Given the description of an element on the screen output the (x, y) to click on. 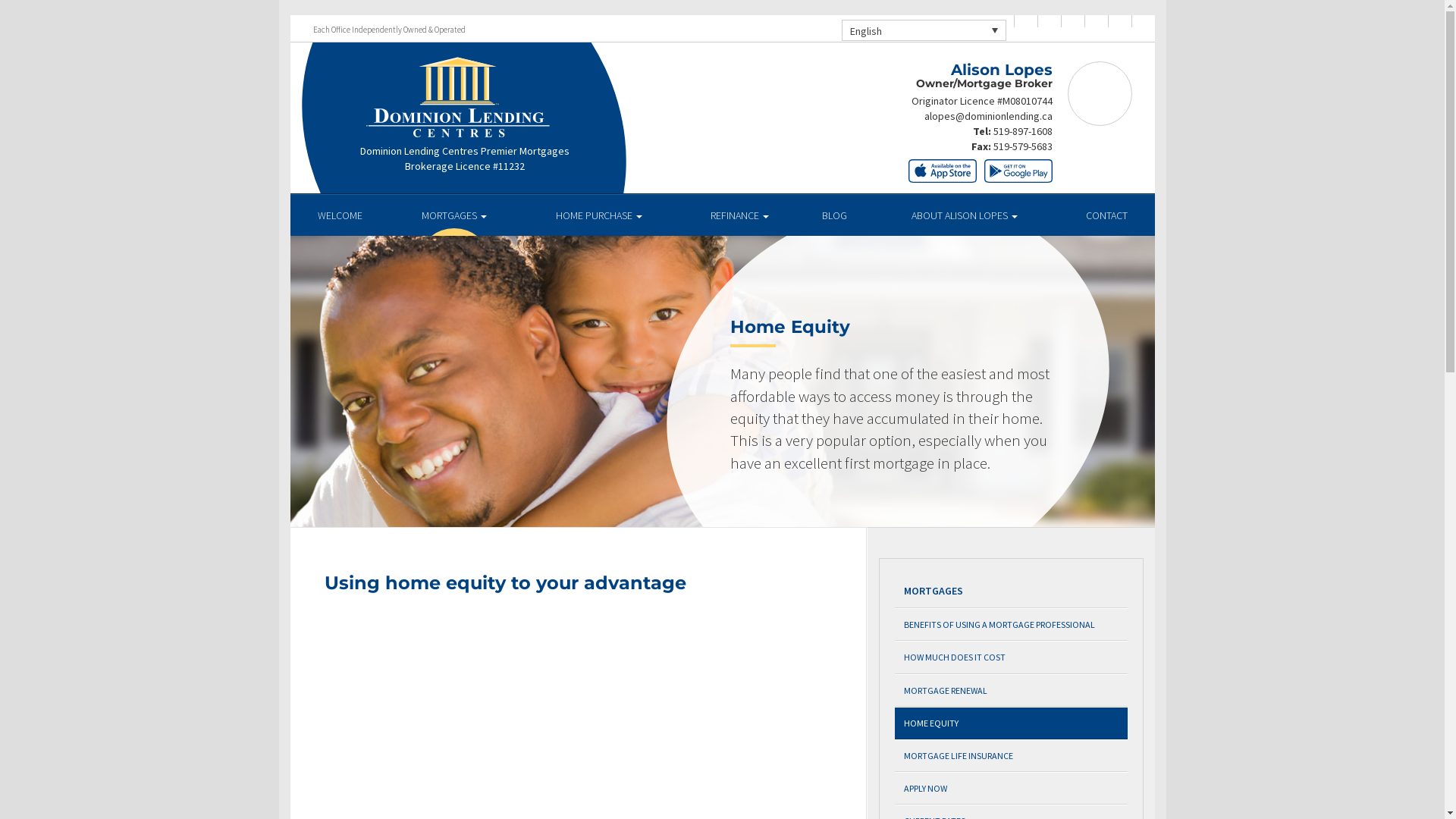
English Element type: text (923, 29)
WELCOME Element type: text (339, 214)
MORTGAGES Element type: text (454, 214)
519-579-5683 Element type: text (1022, 146)
APPLY NOW Element type: text (1010, 787)
MORTGAGE LIFE INSURANCE Element type: text (1010, 755)
BENEFITS OF USING A MORTGAGE PROFESSIONAL Element type: text (1010, 624)
ABOUT ALISON LOPES Element type: text (964, 214)
BLOG Element type: text (834, 214)
519-897-1608 Element type: text (1022, 131)
HOME PURCHASE Element type: text (598, 214)
MORTGAGES Element type: text (1010, 591)
REFINANCE Element type: text (739, 214)
HOW MUCH DOES IT COST Element type: text (1010, 656)
MORTGAGE RENEWAL Element type: text (1010, 690)
HOME EQUITY Element type: text (1010, 722)
alopes@dominionlending.ca Element type: text (987, 115)
CONTACT Element type: text (1106, 214)
